Given the description of an element on the screen output the (x, y) to click on. 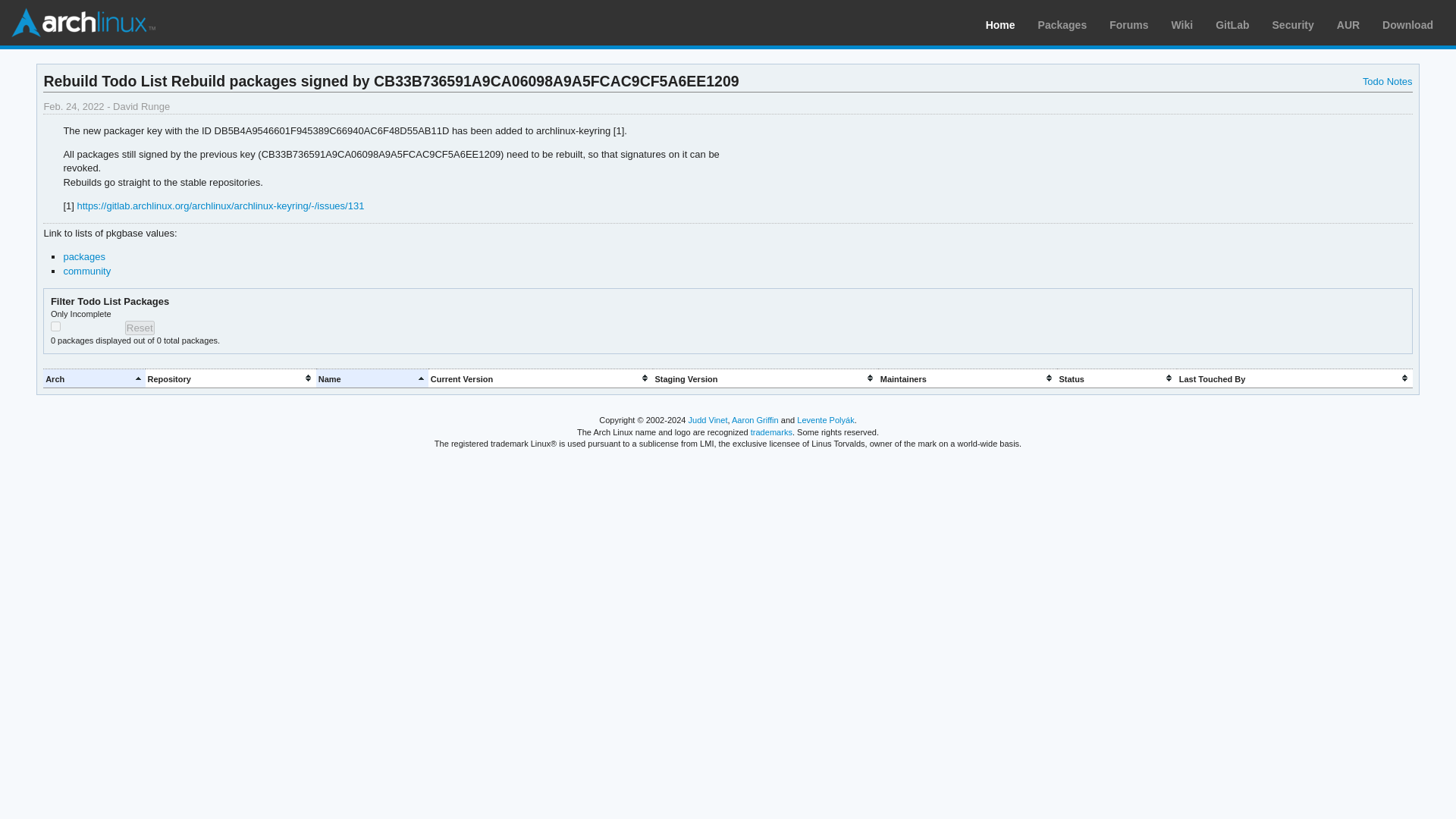
Community documentation (1182, 24)
trademarks (771, 431)
Packages (1062, 24)
community (86, 270)
packages (83, 256)
incomplete (55, 326)
Community forums (1128, 24)
GitLab (1232, 24)
Reset search criteria (139, 327)
Notes (1387, 81)
